Given the description of an element on the screen output the (x, y) to click on. 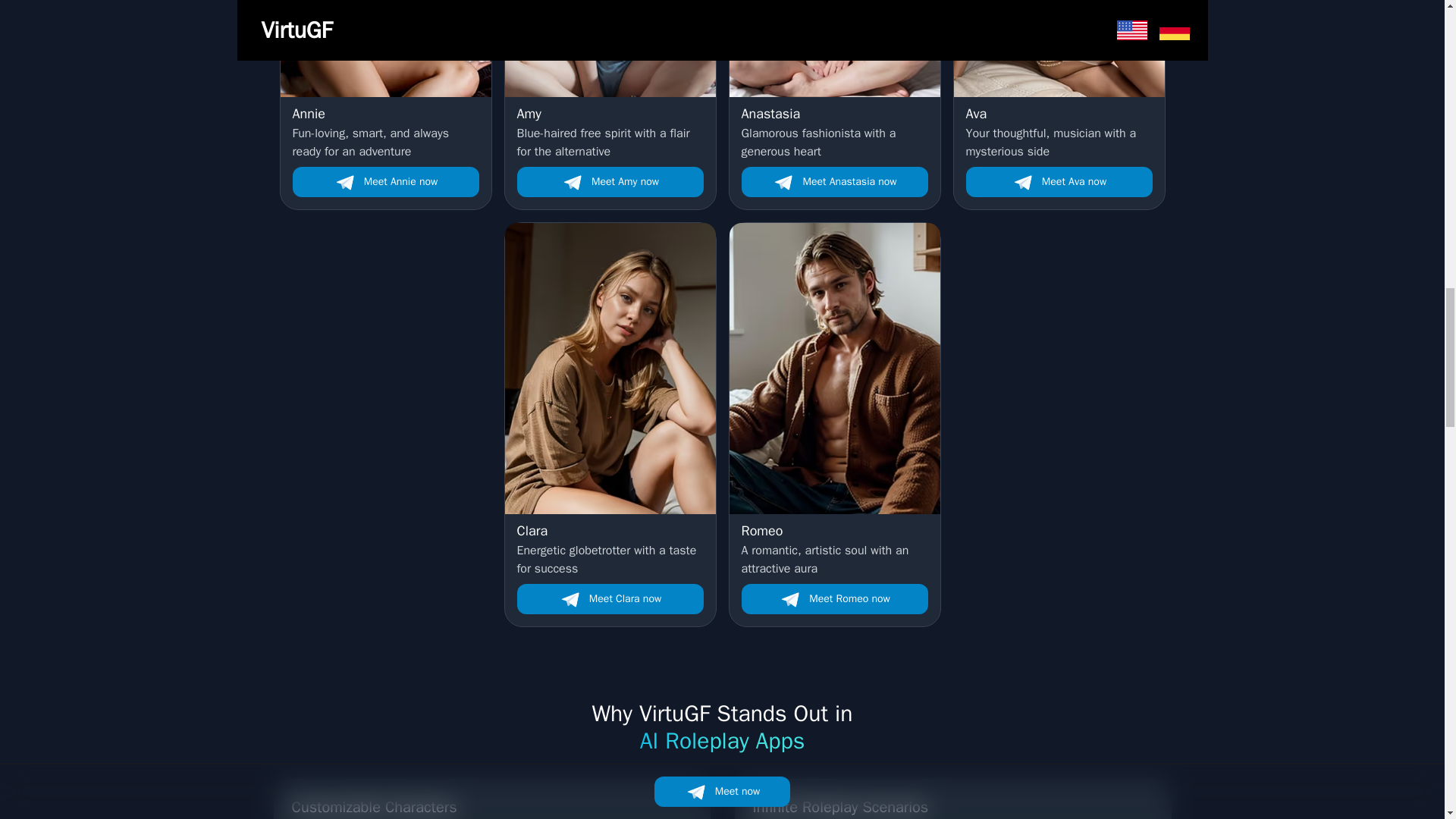
Meet Annie now (385, 182)
Meet Ava now (1059, 182)
Meet Romeo now (609, 549)
Meet Clara now (834, 598)
Meet Amy now (609, 598)
Meet Anastasia now (1059, 131)
